Given the description of an element on the screen output the (x, y) to click on. 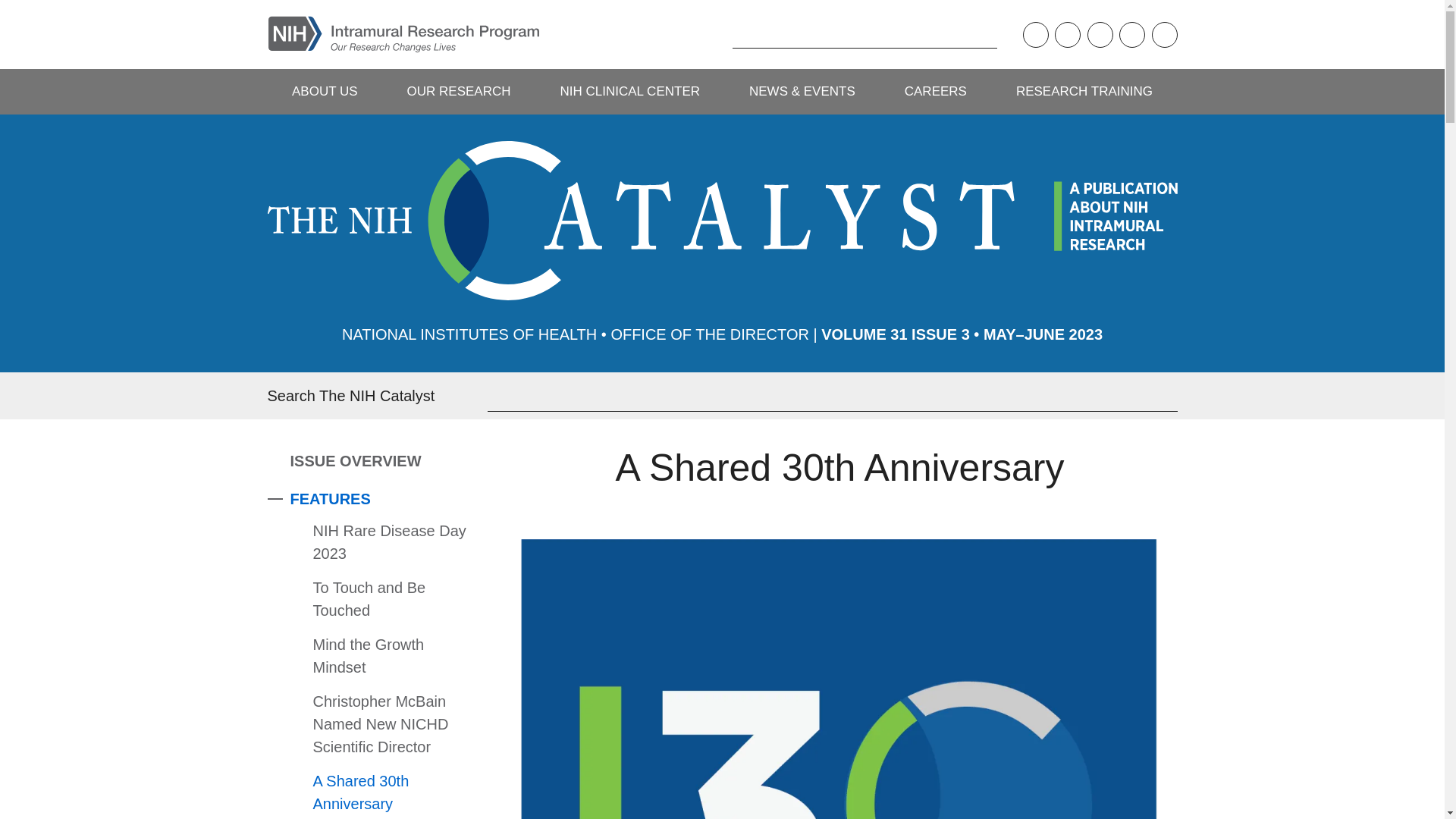
SEARCH (707, 34)
ABOUT US (323, 91)
Skip to main content (11, 11)
Podcast (1035, 34)
